Given the description of an element on the screen output the (x, y) to click on. 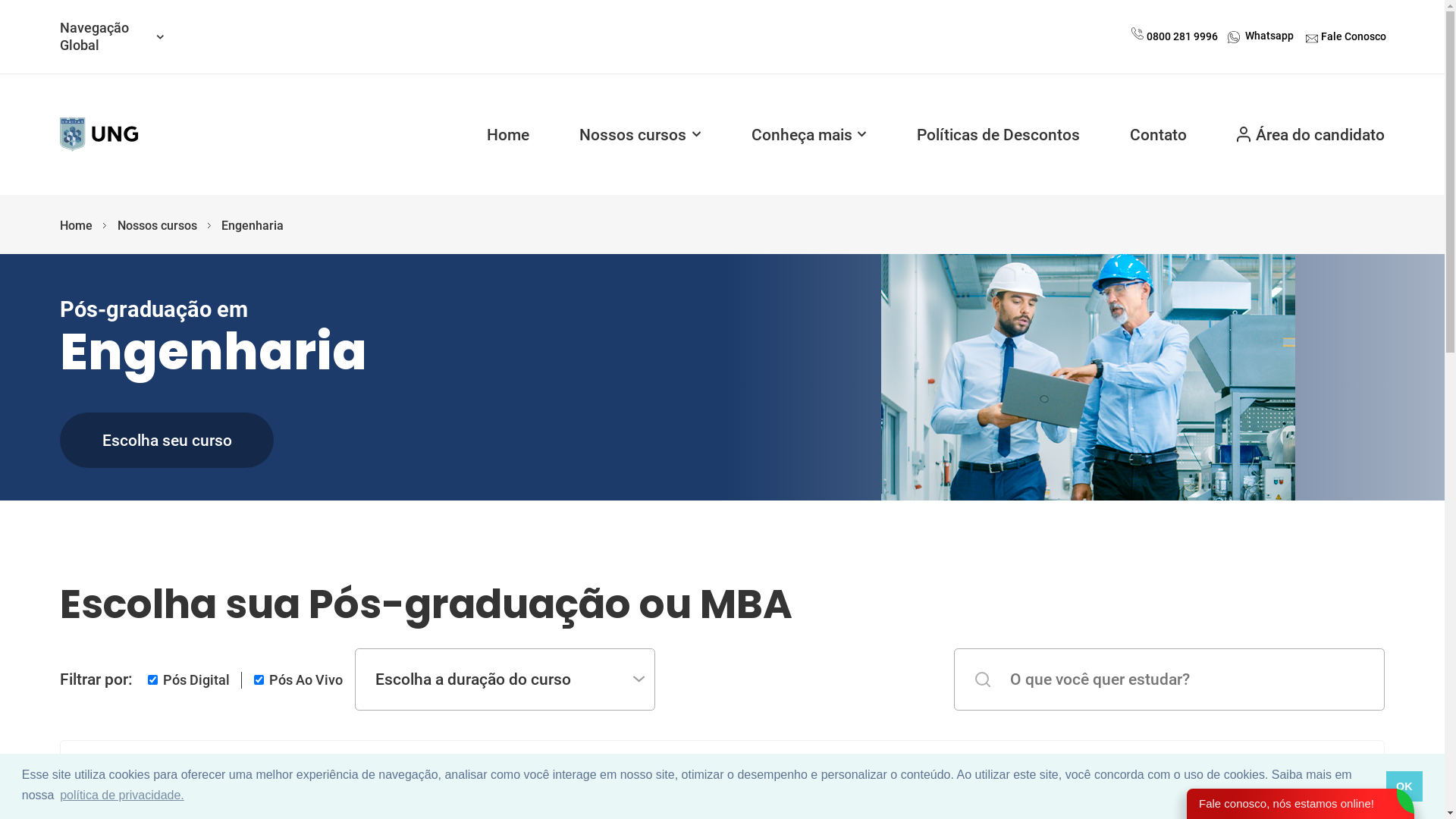
Home Element type: text (75, 225)
Chat por WhatsApp Element type: hover (1233, 35)
Fale Conosco Element type: text (1353, 38)
Nossos cursos Element type: text (157, 225)
Escolha seu curso Element type: text (166, 439)
Home Element type: text (507, 133)
Whatsapp Element type: text (1269, 35)
on Element type: text (258, 679)
Engenharia Element type: text (252, 225)
Fale conosco Element type: hover (1311, 36)
on Element type: text (152, 679)
Nossos cursos Element type: text (640, 133)
OK Element type: text (1404, 786)
Contato Element type: text (1157, 133)
